Given the description of an element on the screen output the (x, y) to click on. 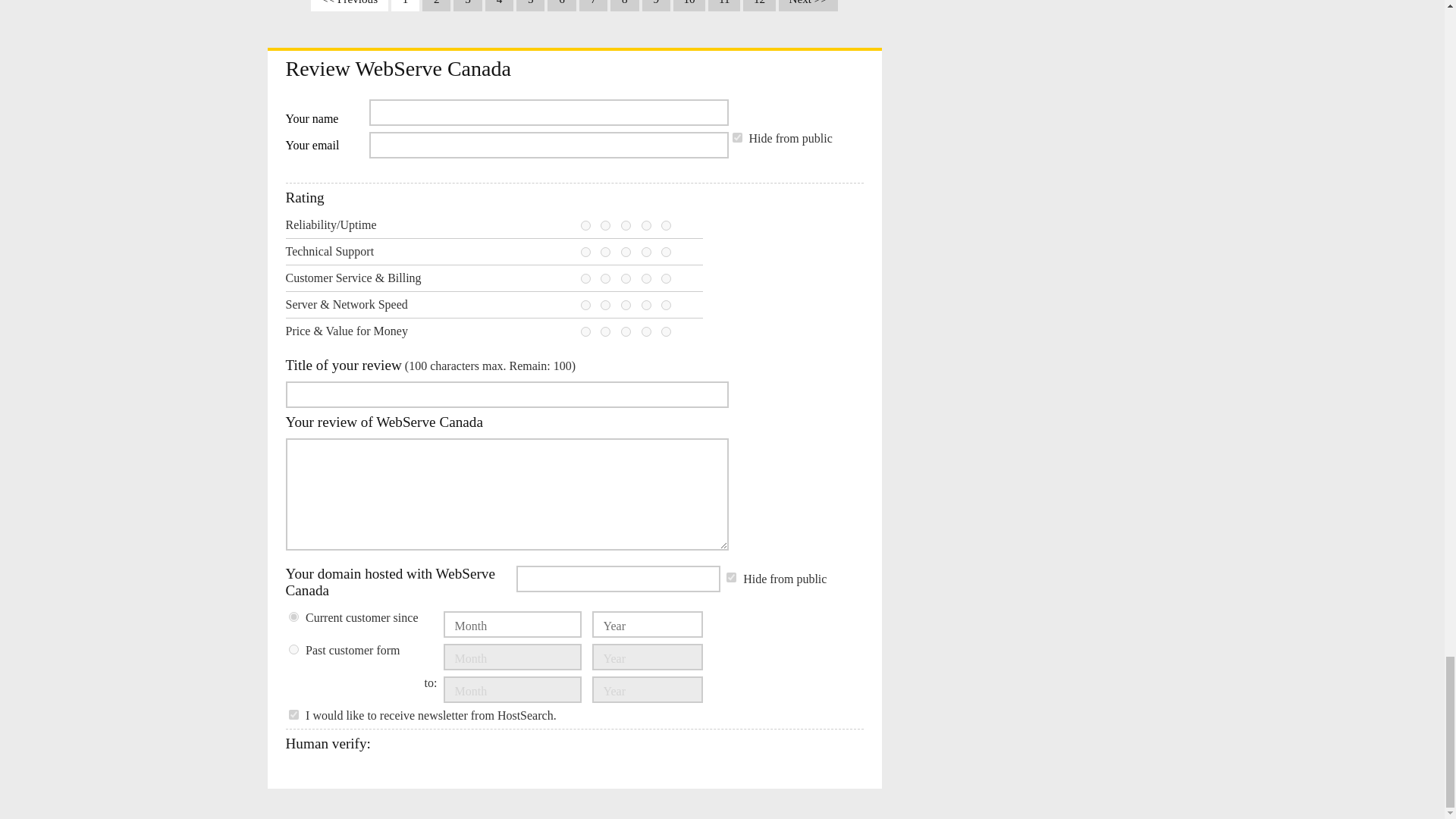
Best (666, 225)
Bad (604, 252)
OK (625, 225)
2 (604, 252)
4 (646, 252)
1 (585, 278)
3 (625, 225)
Good (646, 278)
Good (646, 252)
1 (585, 252)
